Given the description of an element on the screen output the (x, y) to click on. 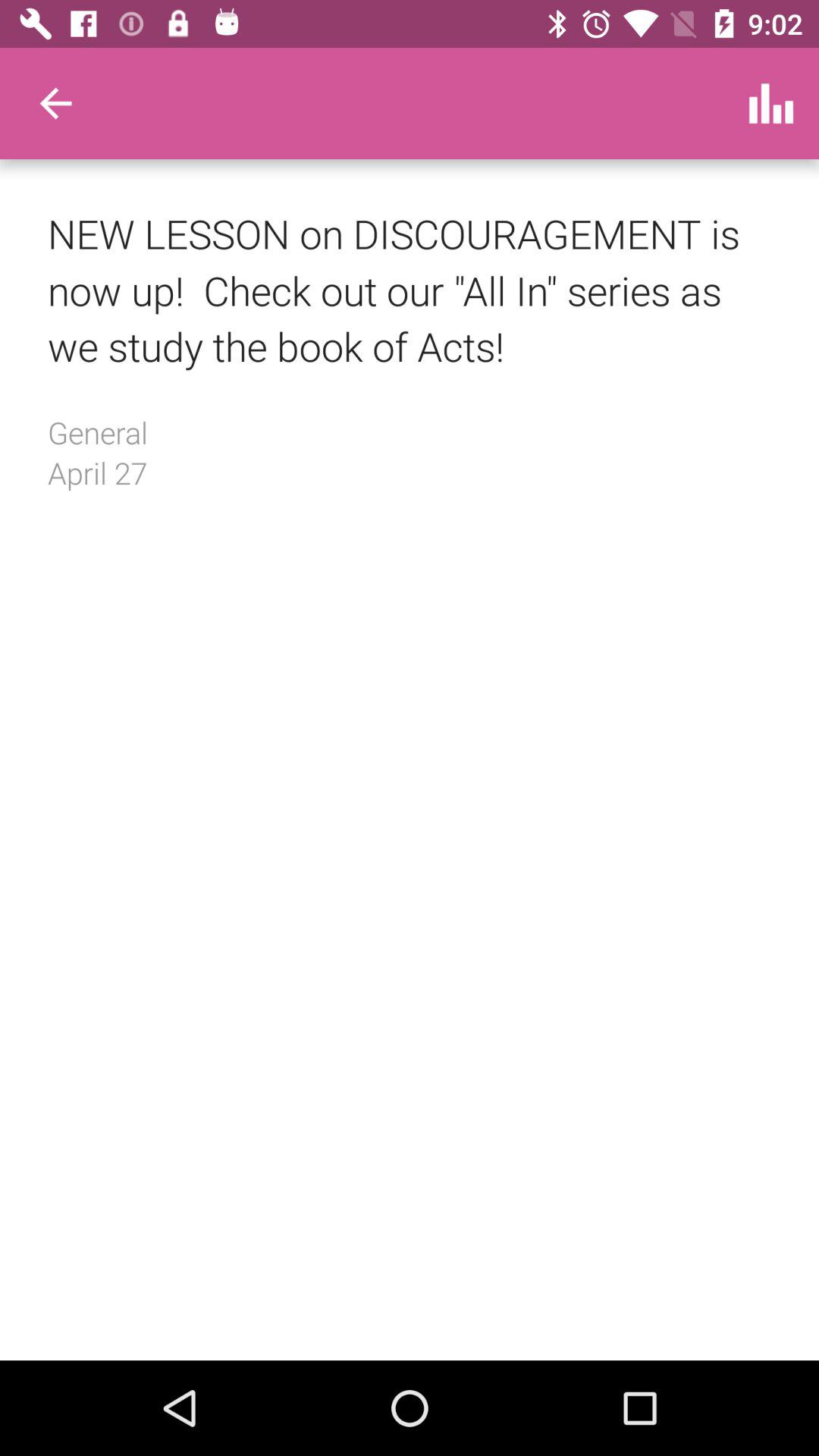
select the item above new lesson on (55, 103)
